Given the description of an element on the screen output the (x, y) to click on. 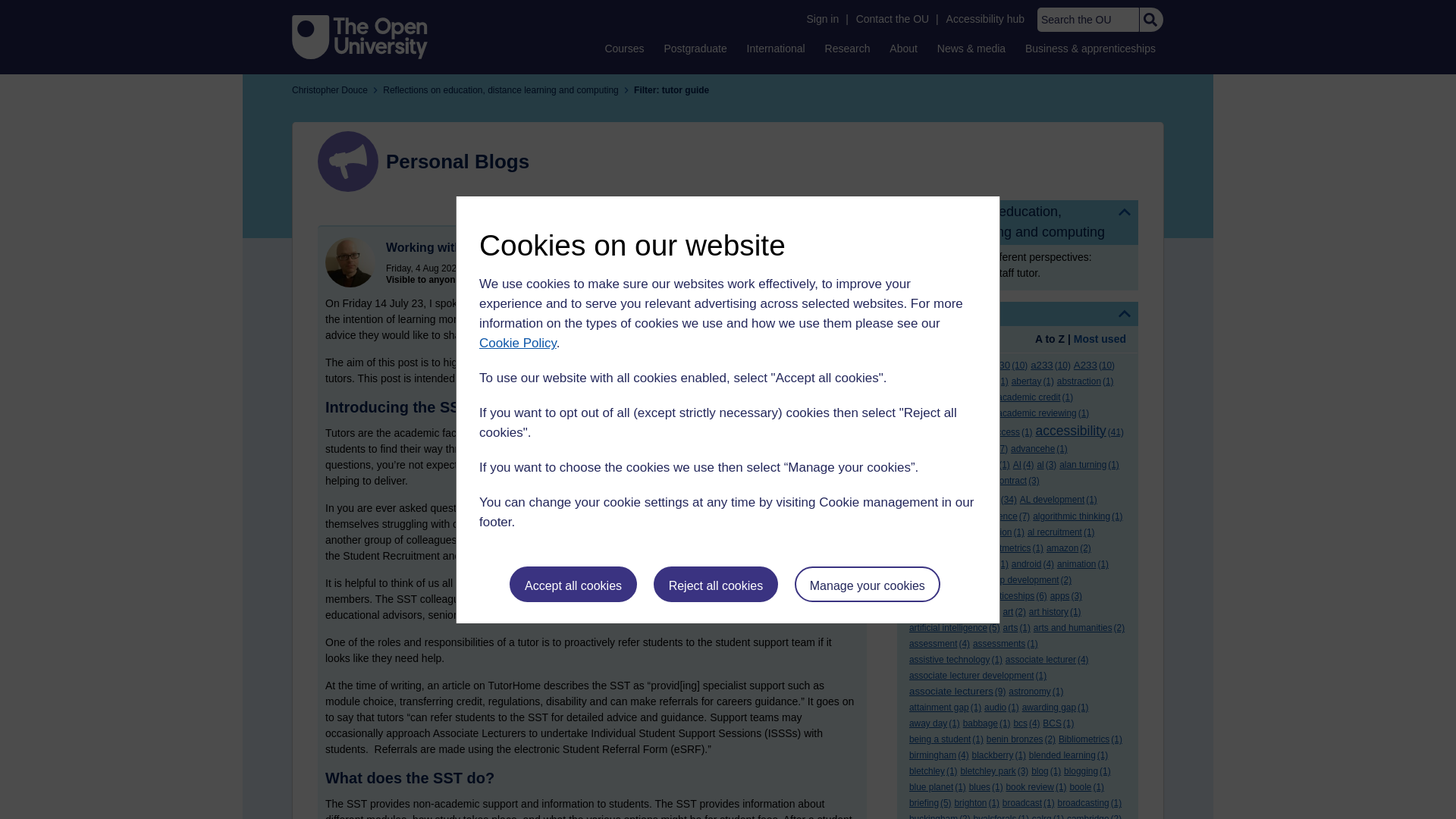
Tags (1017, 313)
Cookie Policy (517, 342)
Research (847, 48)
Courses (623, 48)
Manage your cookies (867, 583)
Contact the OU (892, 19)
Search (1149, 19)
About (903, 48)
Postgraduate (695, 48)
Help with Order: (951, 340)
